Given the description of an element on the screen output the (x, y) to click on. 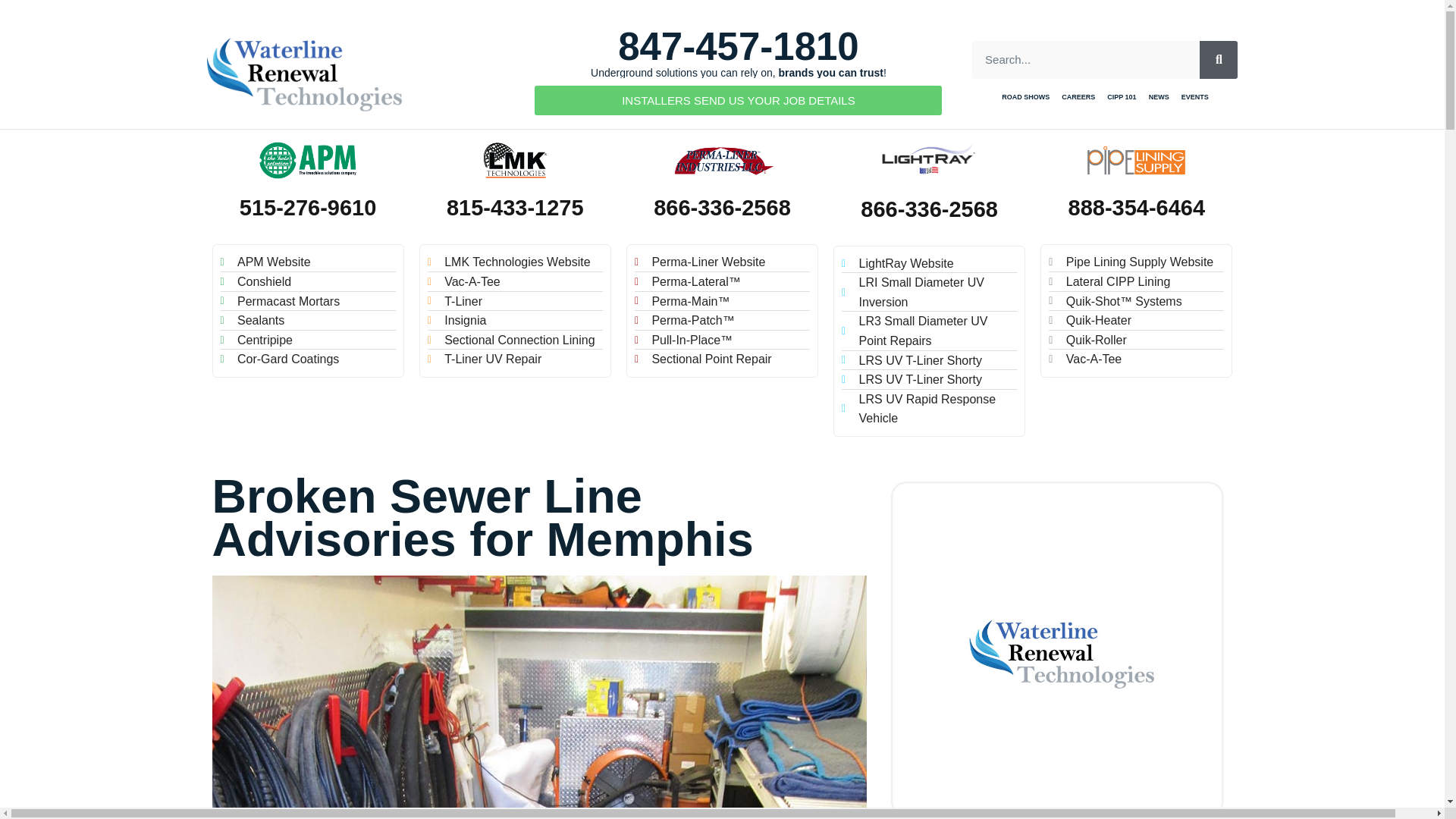
CIPP 101 (1120, 97)
Permacast Mortars (306, 301)
Insignia (515, 320)
Sealants (306, 320)
CAREERS (1077, 97)
T-Liner (515, 301)
Perma-Liner Website (721, 261)
APM Website (306, 261)
Search (1218, 59)
Vac-A-Tee (515, 281)
Sectional Point Repair (721, 359)
Search (1085, 59)
Cor-Gard Coatings (306, 359)
LMK Technologies Website (515, 261)
Centripipe (306, 340)
